Given the description of an element on the screen output the (x, y) to click on. 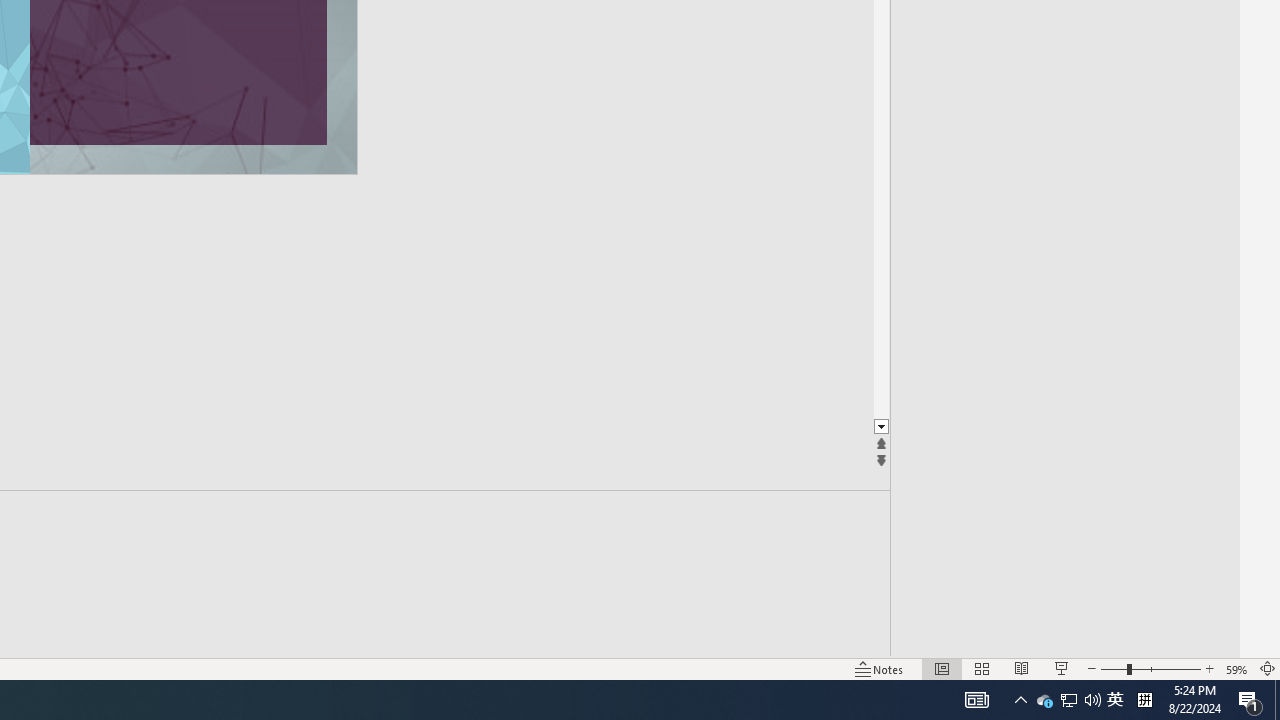
Zoom 59% (1236, 668)
